Given the description of an element on the screen output the (x, y) to click on. 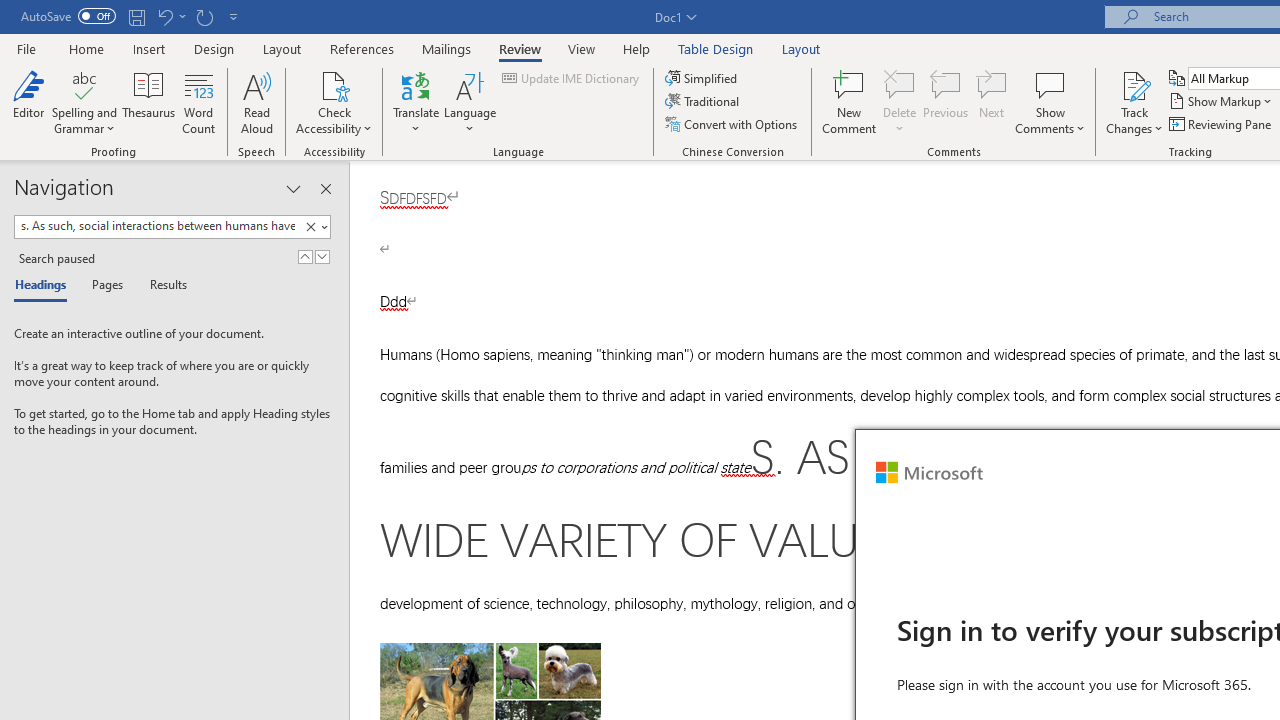
Translate (415, 102)
Show Comments (1050, 102)
Next Result (322, 256)
Clear (310, 227)
Show Markup (1222, 101)
Clear (314, 227)
Spelling and Grammar (84, 102)
